Given the description of an element on the screen output the (x, y) to click on. 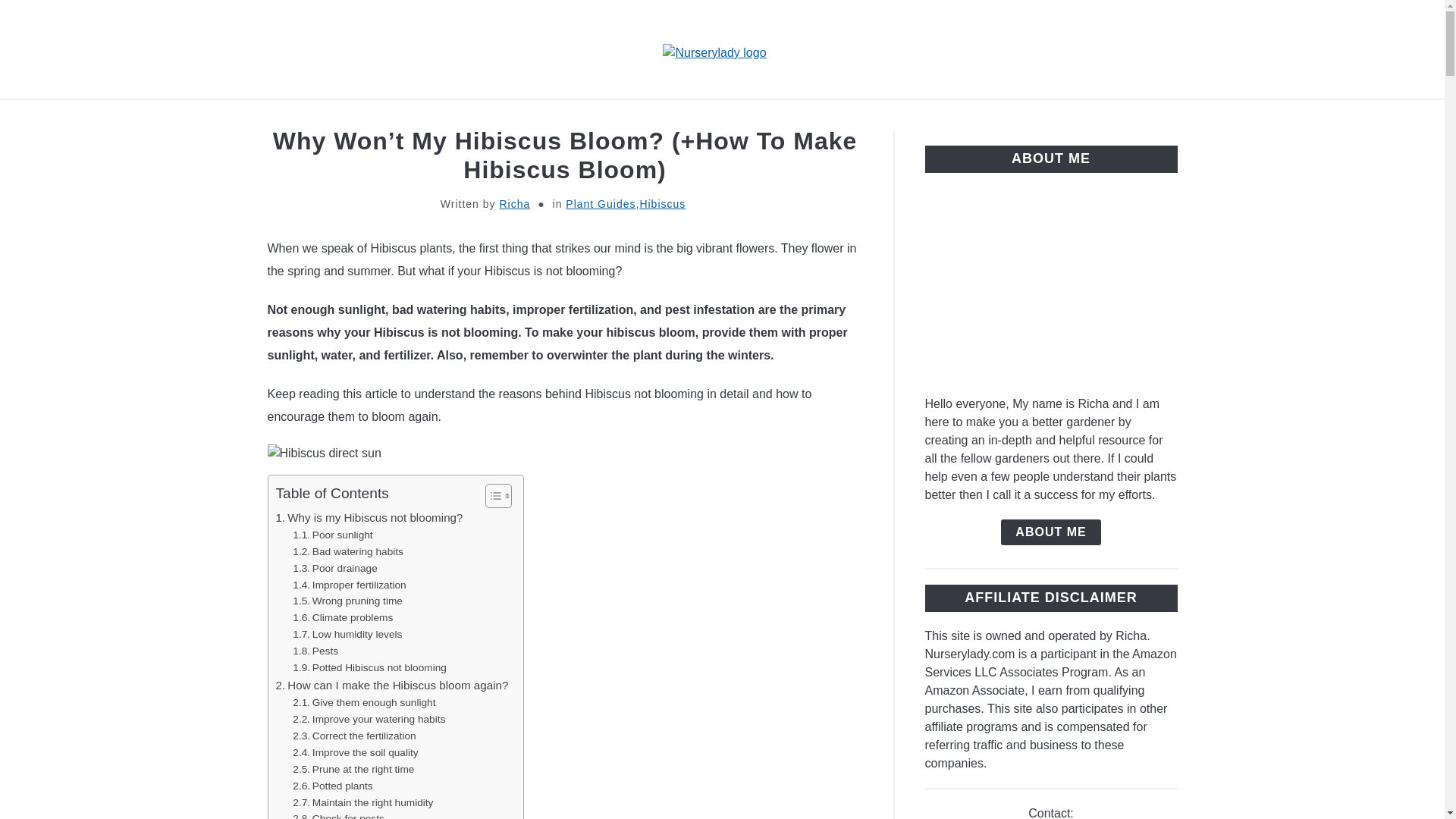
Improper fertilization  (350, 584)
Climate problems (342, 617)
GENERAL CARE (1135, 117)
Why is my Hibiscus not blooming? (369, 517)
Low humidity levels (346, 634)
Prune at the right time (352, 769)
Poor sunlight (332, 535)
Give them enough sunlight (363, 702)
HOME (275, 117)
